Given the description of an element on the screen output the (x, y) to click on. 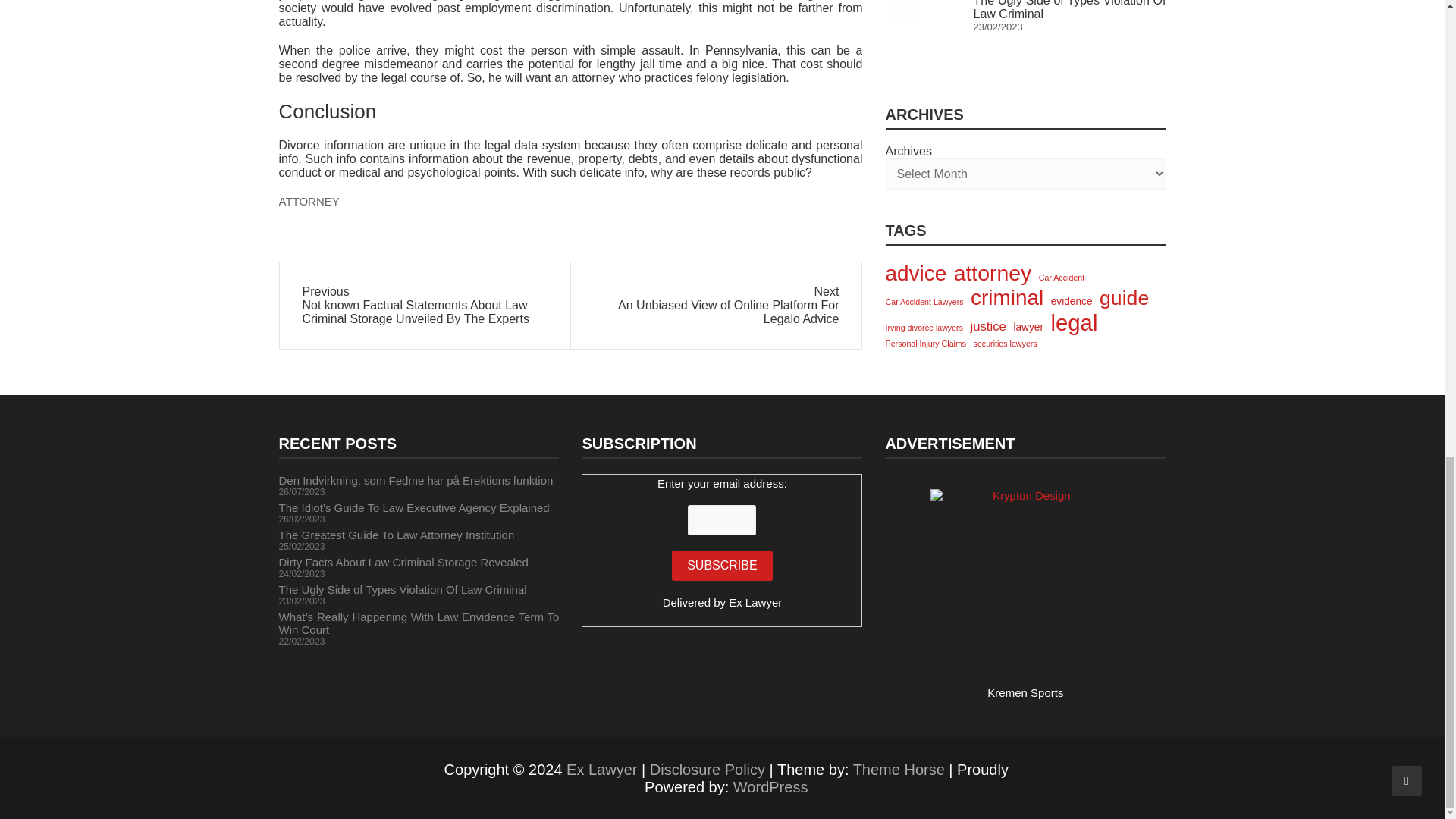
Subscribe (721, 565)
ATTORNEY (309, 201)
Ex Lawyer (601, 769)
Krypton Design (1024, 583)
